Given the description of an element on the screen output the (x, y) to click on. 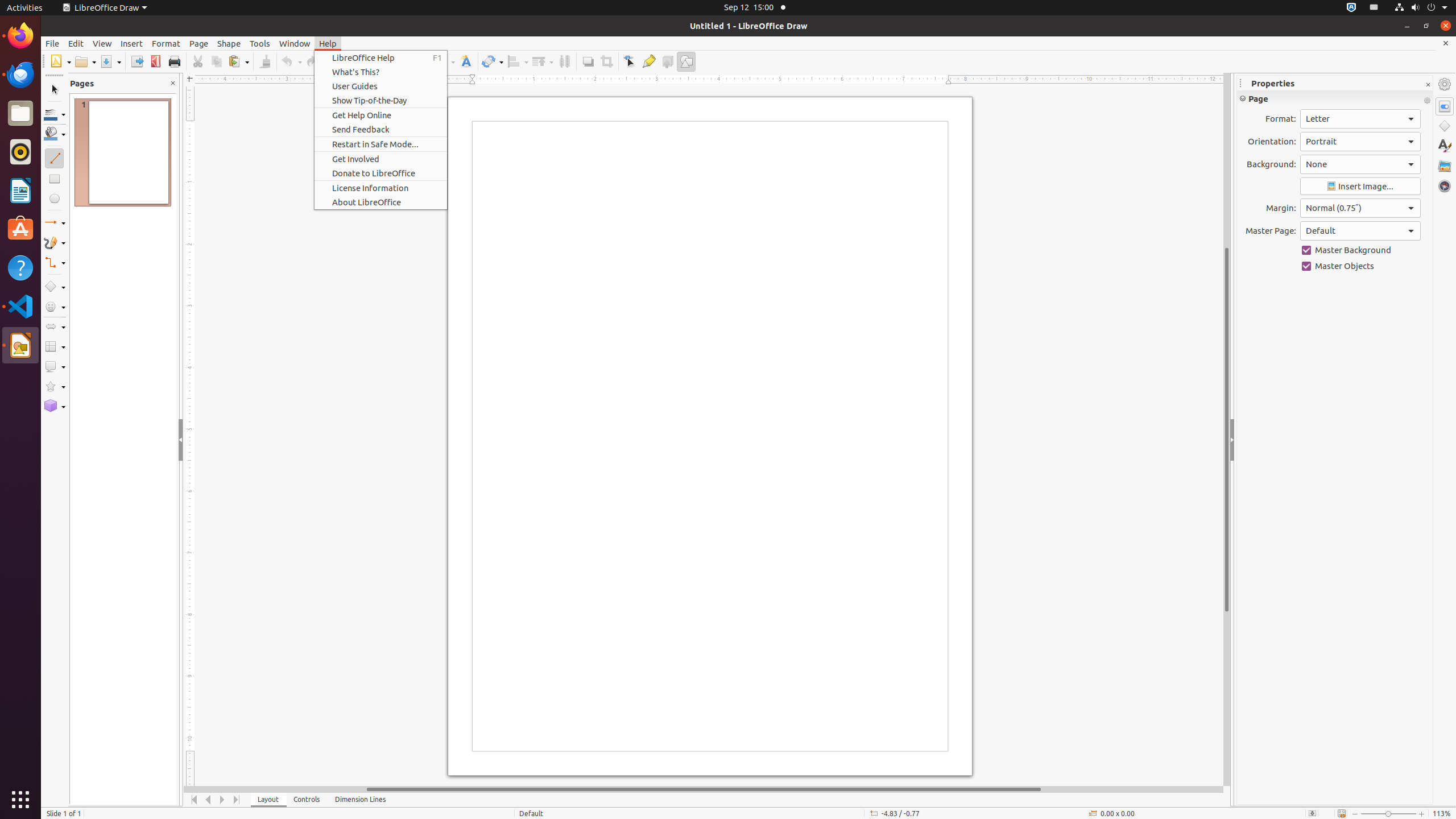
Rhythmbox Element type: push-button (20, 151)
Gallery Element type: radio-button (1444, 165)
File Element type: menu (51, 43)
View Element type: menu (102, 43)
